Given the description of an element on the screen output the (x, y) to click on. 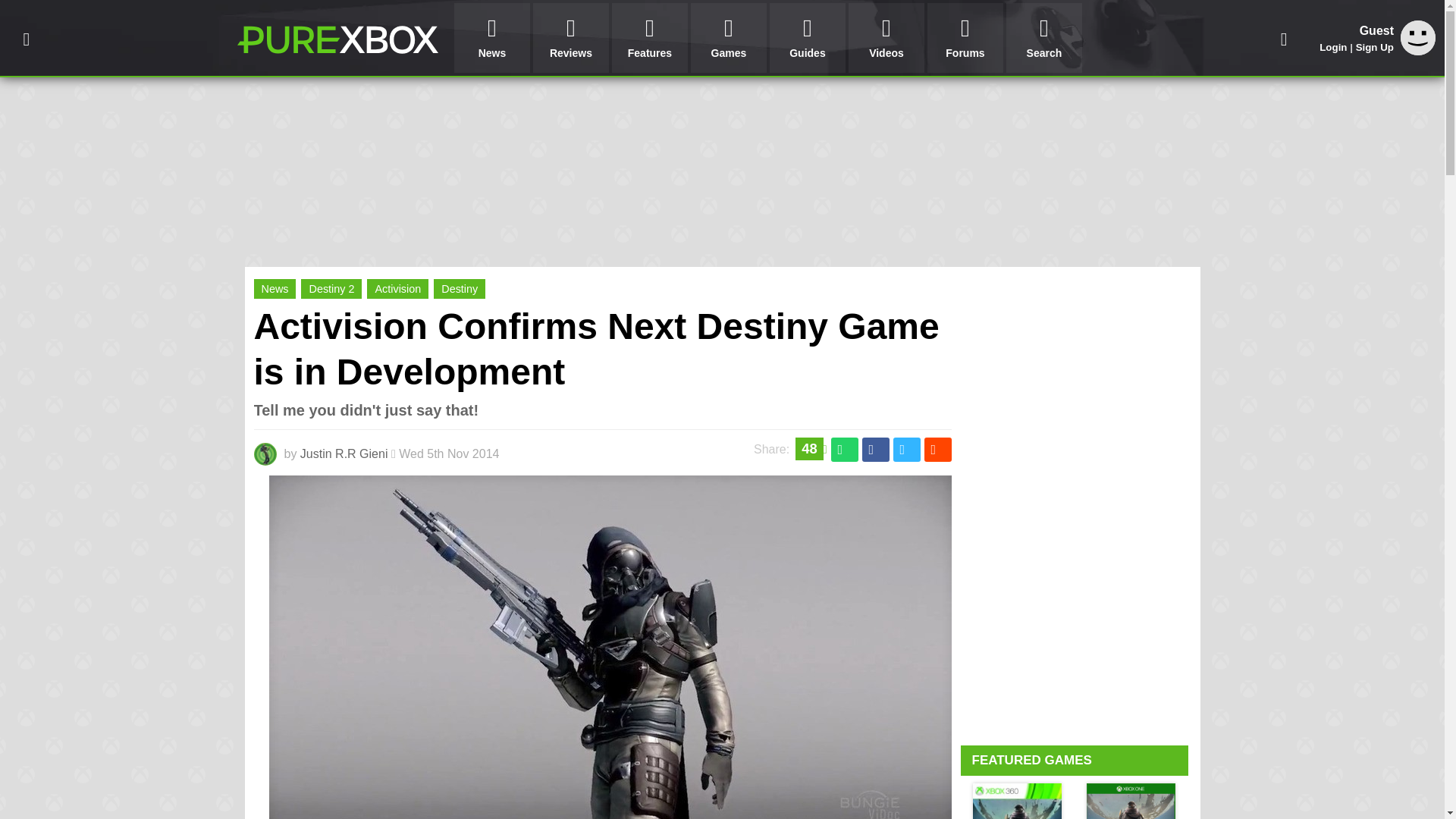
Guides (807, 37)
Guest (1417, 37)
Features (649, 37)
Reviews (570, 37)
Share This Page (1283, 37)
Login (1332, 47)
Search (1043, 37)
Games (728, 37)
Videos (886, 37)
Guest (1417, 51)
Sign Up (1374, 47)
Pure Xbox (336, 39)
News (491, 37)
Pure Xbox (336, 39)
Forums (965, 37)
